Given the description of an element on the screen output the (x, y) to click on. 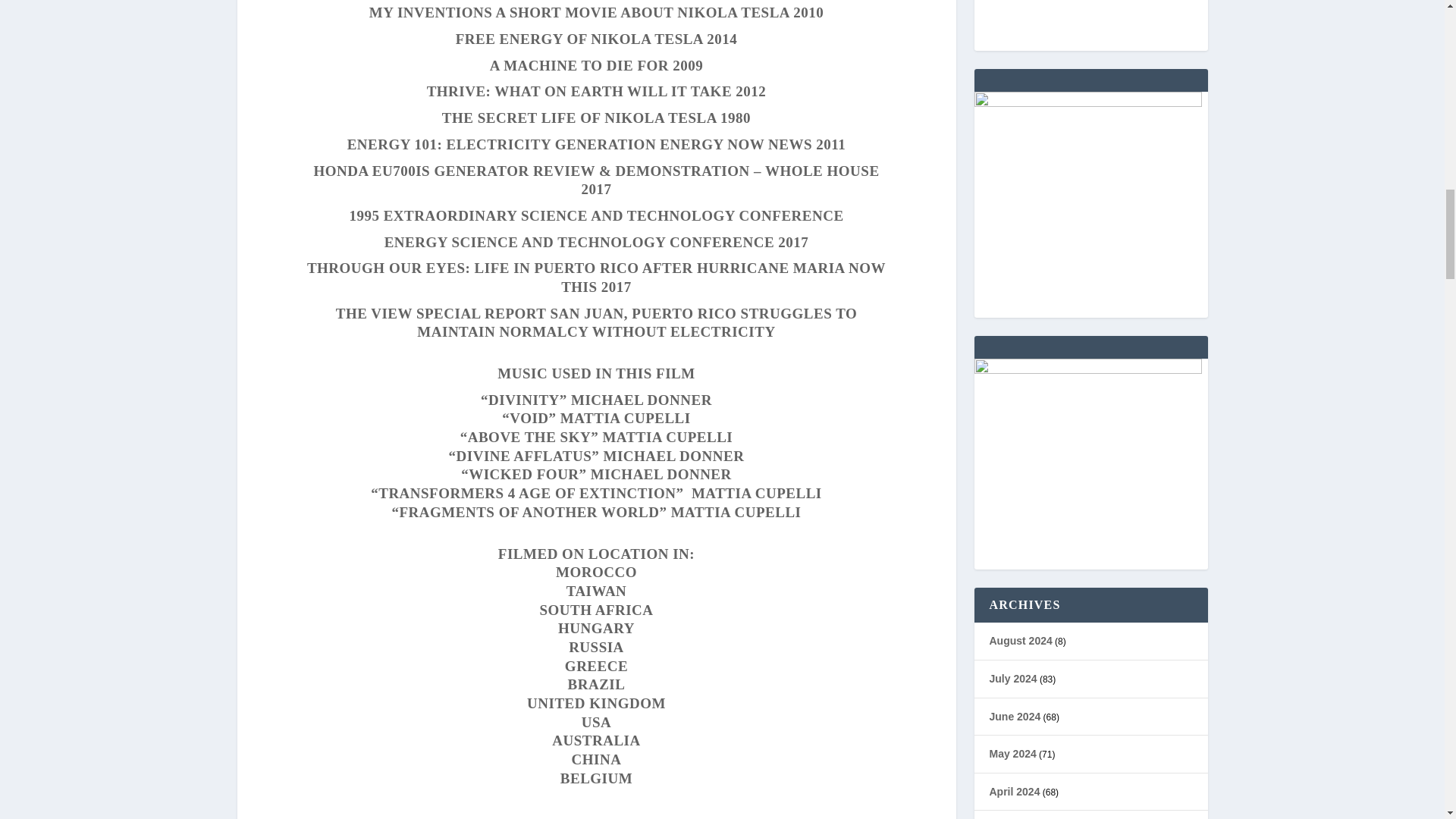
July 2024 (1012, 678)
May 2024 (1011, 753)
August 2024 (1019, 640)
June 2024 (1014, 716)
